Given the description of an element on the screen output the (x, y) to click on. 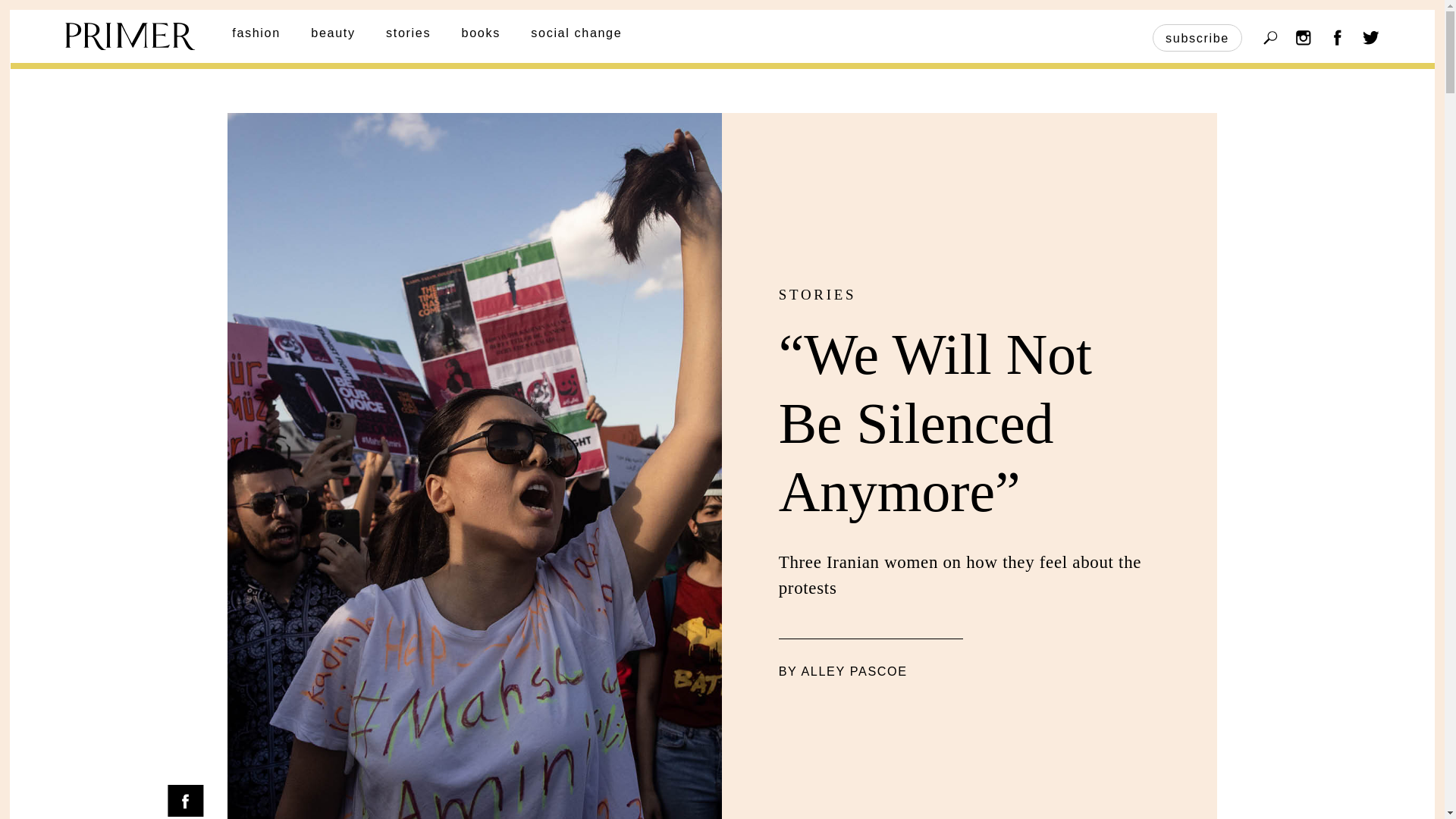
social change (576, 32)
books (480, 32)
stories (407, 32)
subscribe (1197, 37)
fashion (256, 32)
beauty (333, 32)
